Given the description of an element on the screen output the (x, y) to click on. 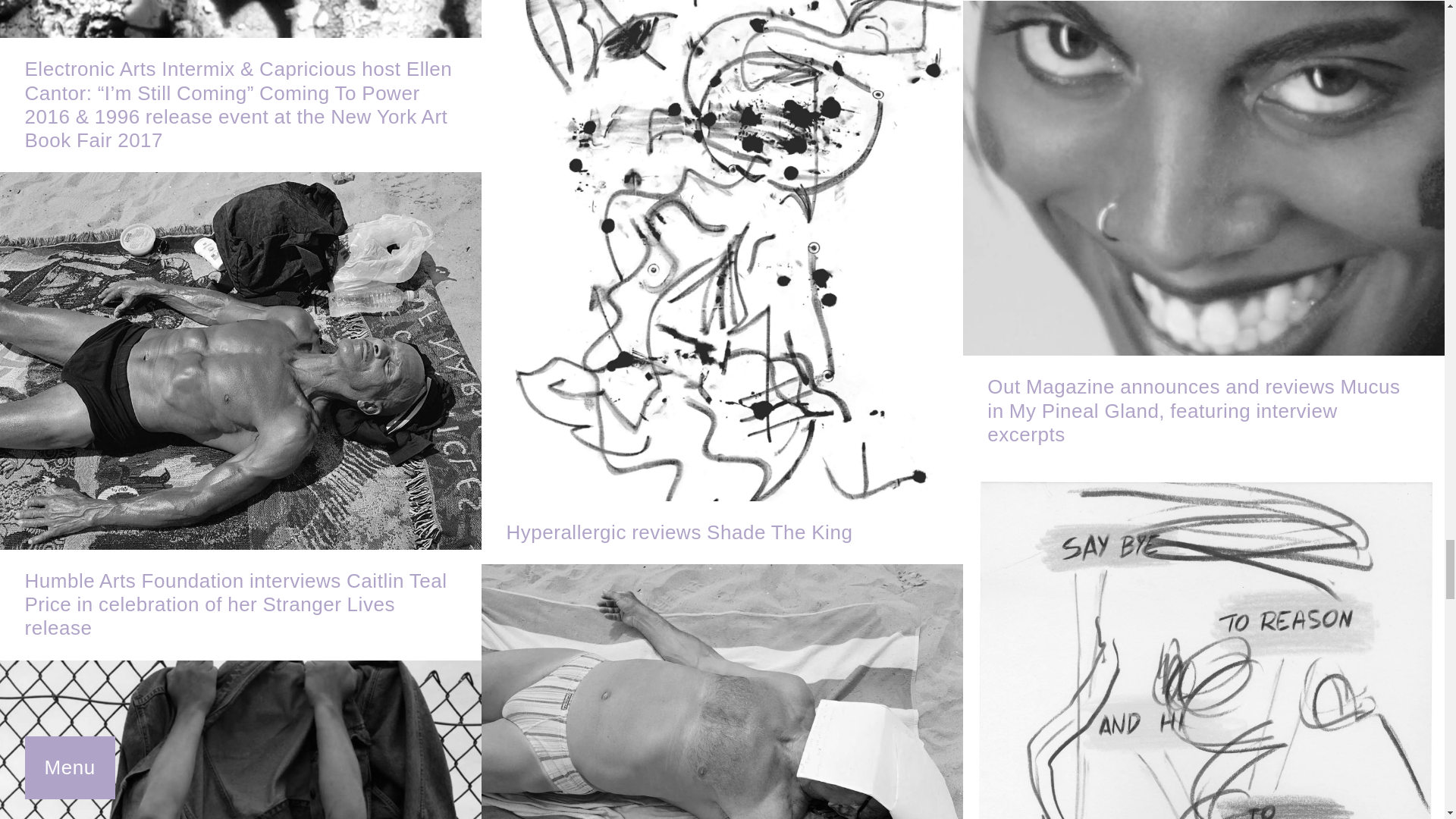
Dazed Digital features Hustlers and Discharge (240, 739)
The Heavy Collective interviews Caitlin Teal Pricee (721, 691)
